Given the description of an element on the screen output the (x, y) to click on. 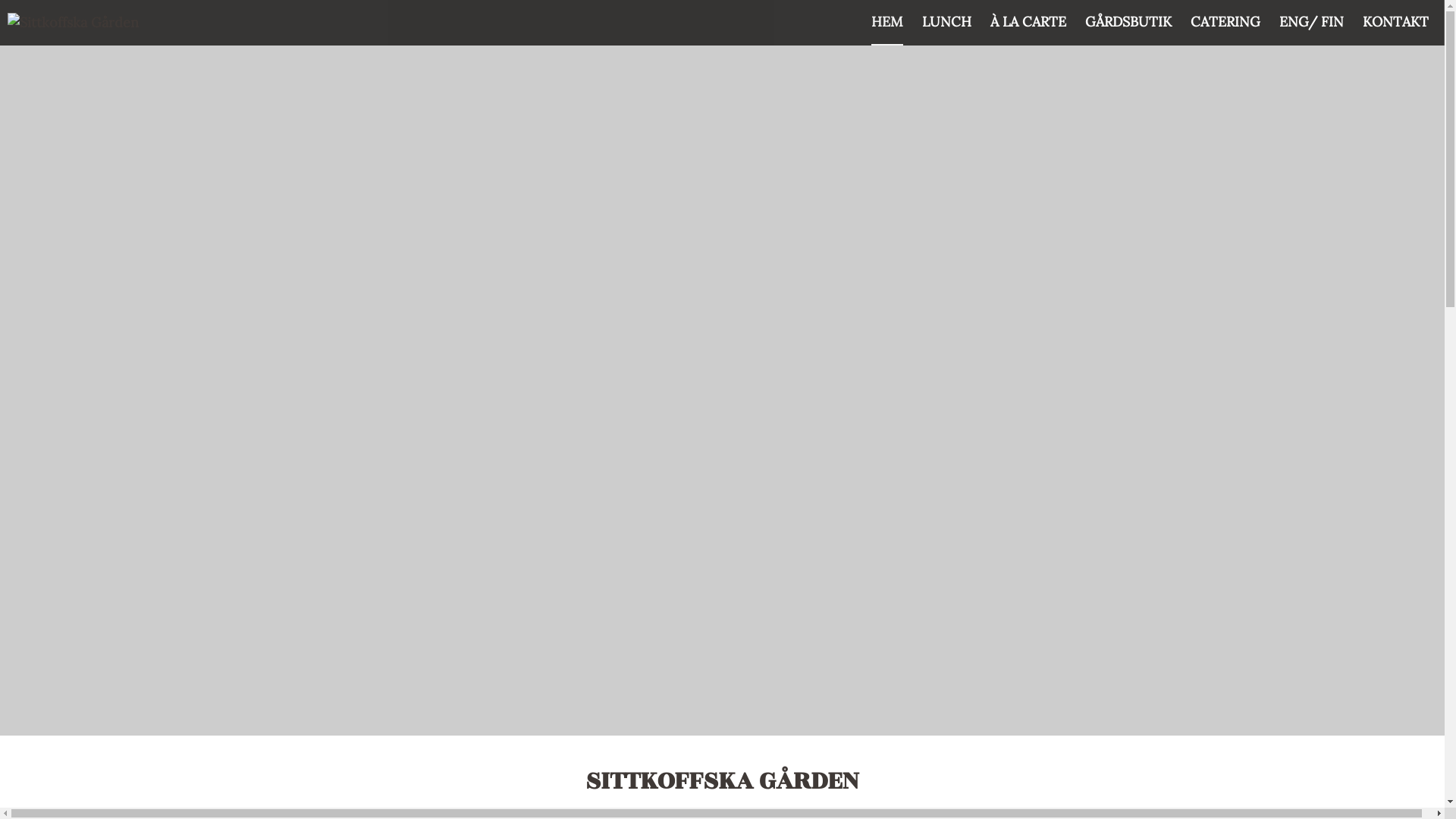
KONTAKT Element type: text (1395, 22)
CATERING Element type: text (1225, 22)
LUNCH Element type: text (946, 22)
HEM Element type: text (887, 22)
ENG/ FIN Element type: text (1311, 22)
